Given the description of an element on the screen output the (x, y) to click on. 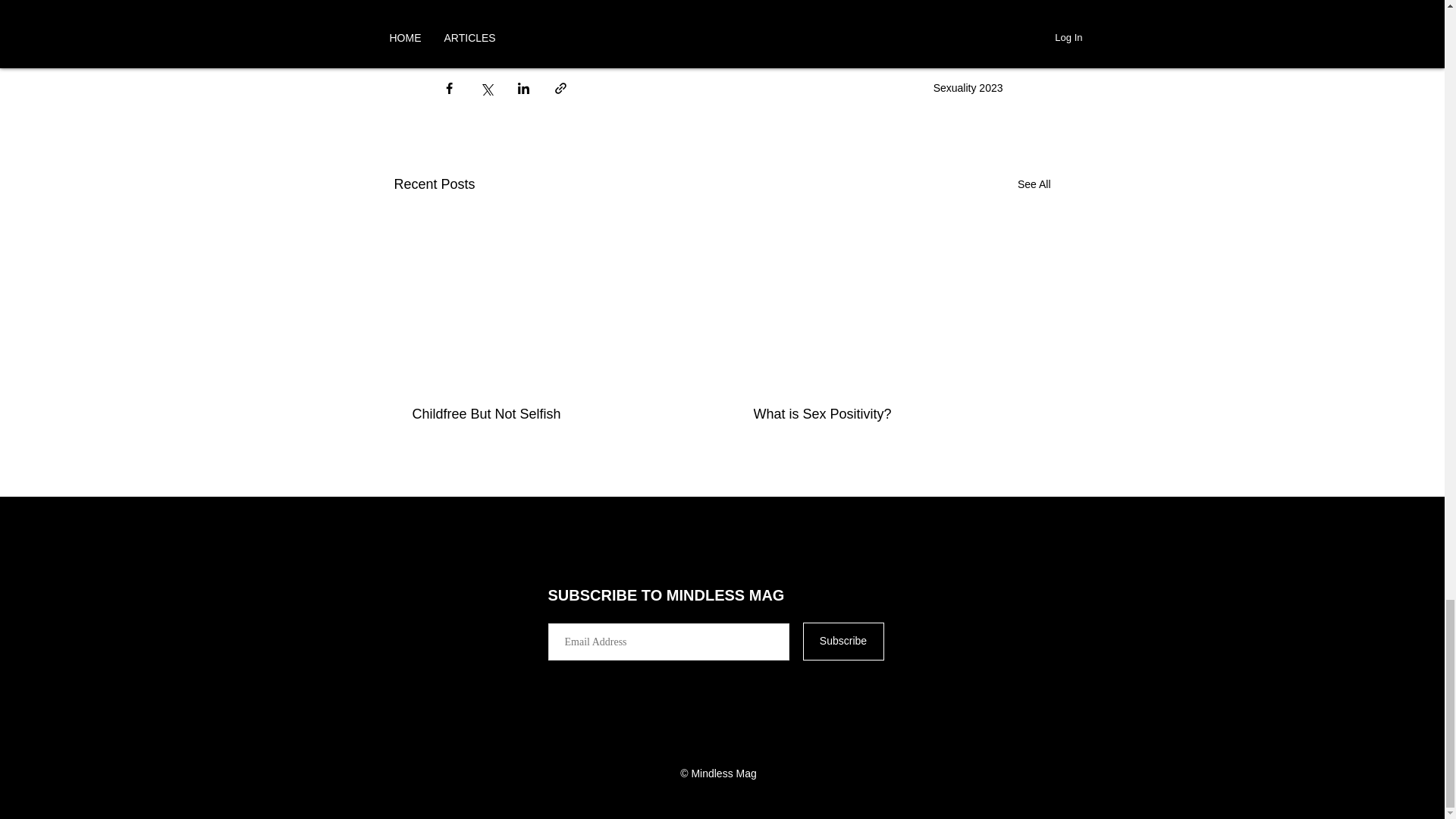
islam and sexual orientation (728, 6)
What is Sex Positivity? (893, 414)
Hal orientation and islam (878, 6)
islam (624, 6)
Childfree But Not Selfish (551, 414)
islam says about homosexuality (658, 29)
sexuality (471, 6)
homosexuality in islam (504, 29)
Sexuality 2023 (968, 87)
Subscribe (842, 641)
homosexuality (552, 6)
See All (1034, 184)
